Given the description of an element on the screen output the (x, y) to click on. 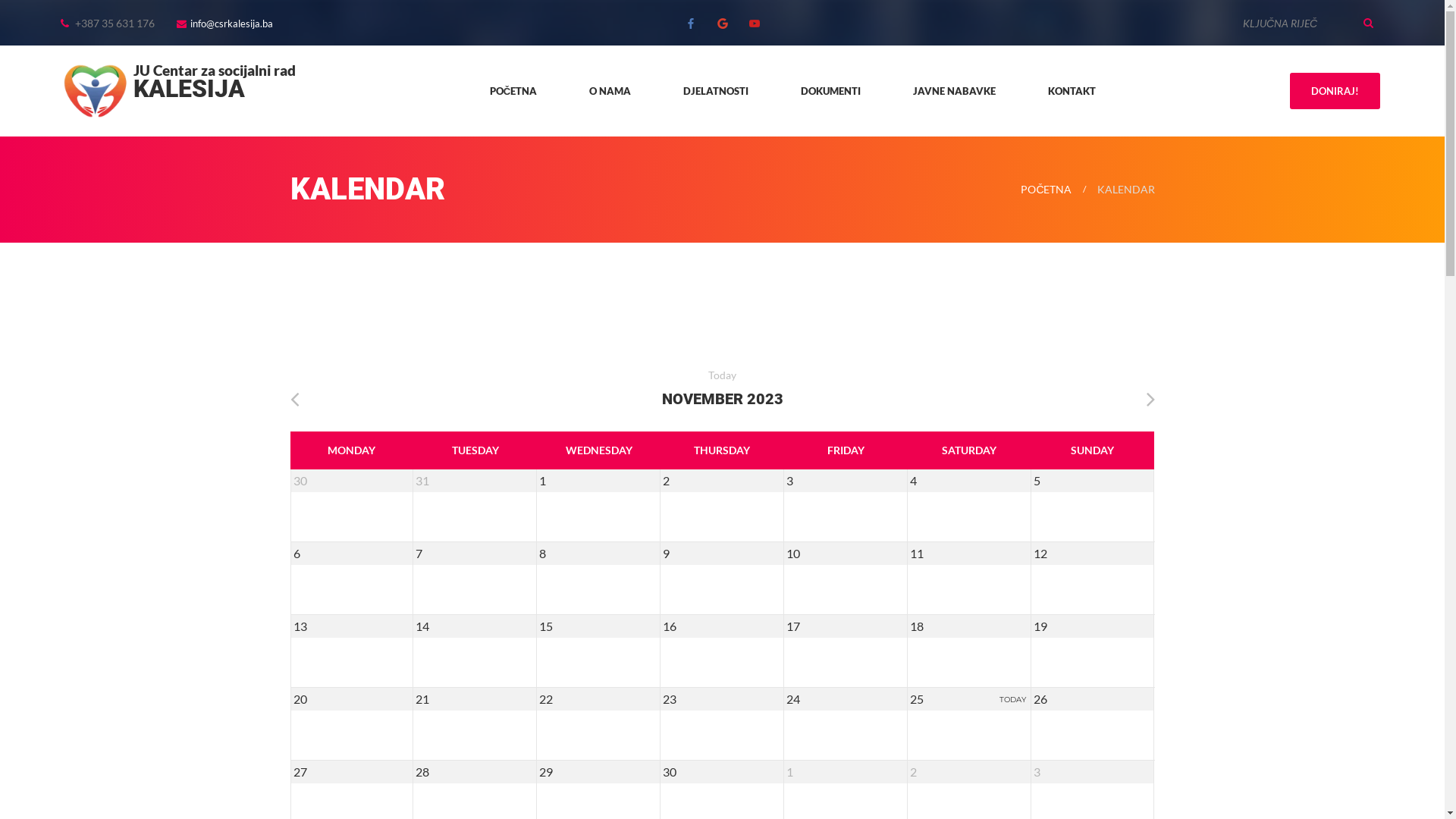
O NAMA Element type: text (609, 90)
DOKUMENTI Element type: text (830, 90)
KONTAKT Element type: text (1071, 90)
JAVNE NABAVKE Element type: text (954, 90)
JU Centar za socijalni rad
KALESIJA Element type: text (177, 90)
SEARCH Element type: text (1368, 22)
DONIRAJ! Element type: text (1334, 90)
DJELATNOSTI Element type: text (715, 90)
Today Element type: text (722, 375)
info@csrkalesija.ba Element type: text (231, 23)
